Given the description of an element on the screen output the (x, y) to click on. 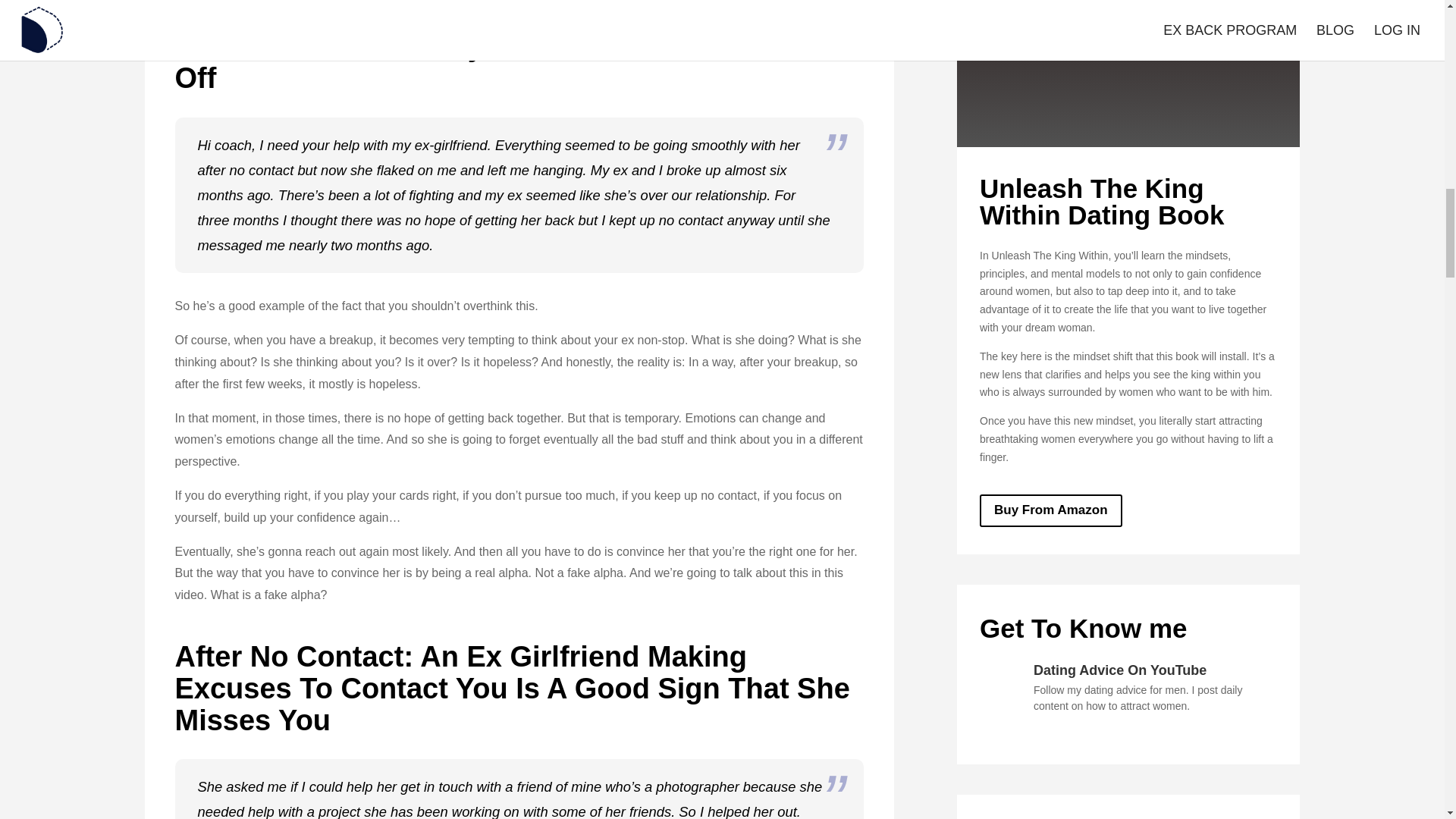
Dating Advice On YouTube (1120, 670)
Buy From Amazon (1050, 510)
